Given the description of an element on the screen output the (x, y) to click on. 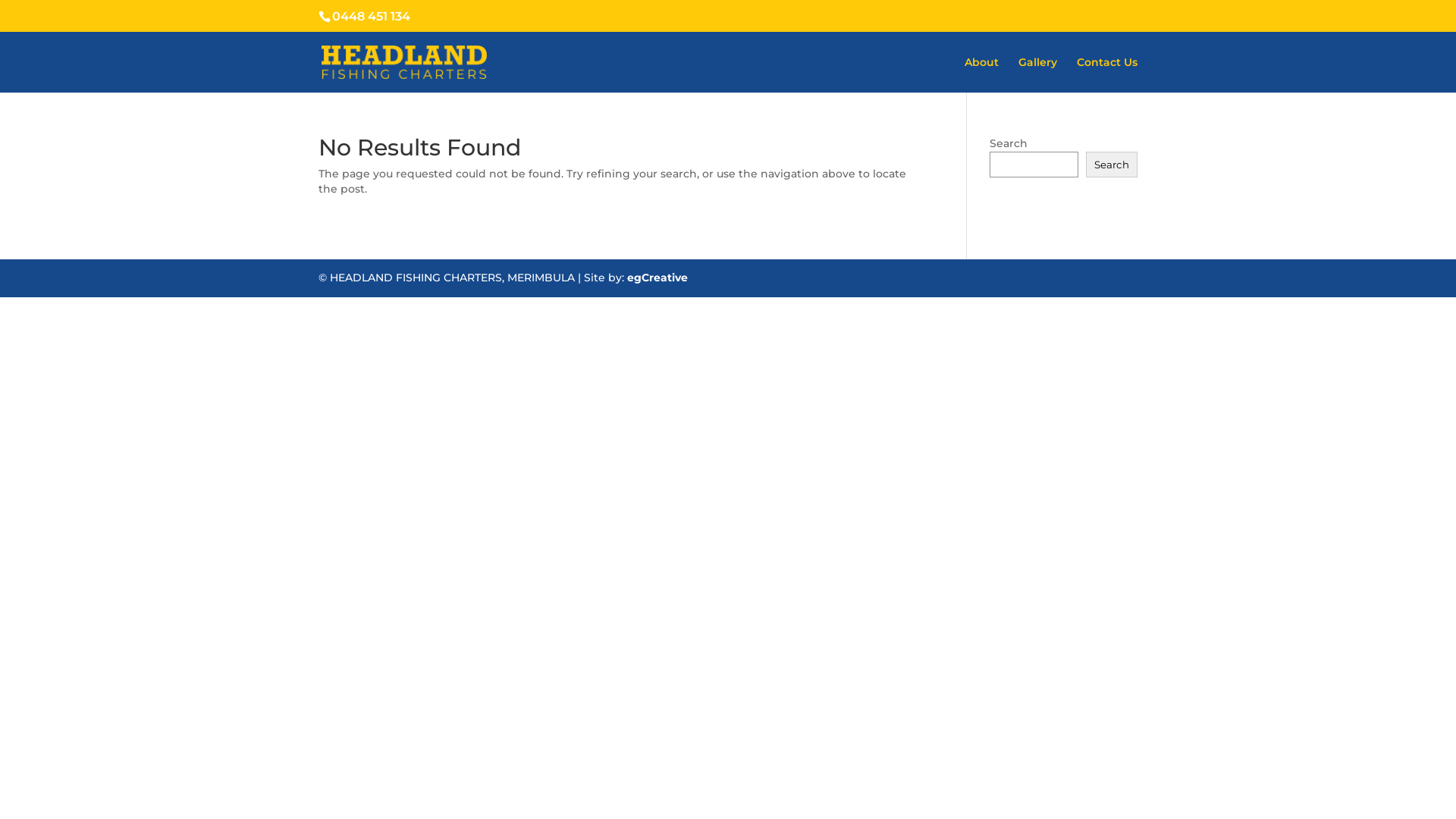
Search Element type: text (1111, 164)
About Element type: text (981, 74)
Gallery Element type: text (1037, 74)
egCreative Element type: text (657, 277)
Contact Us Element type: text (1106, 74)
